Given the description of an element on the screen output the (x, y) to click on. 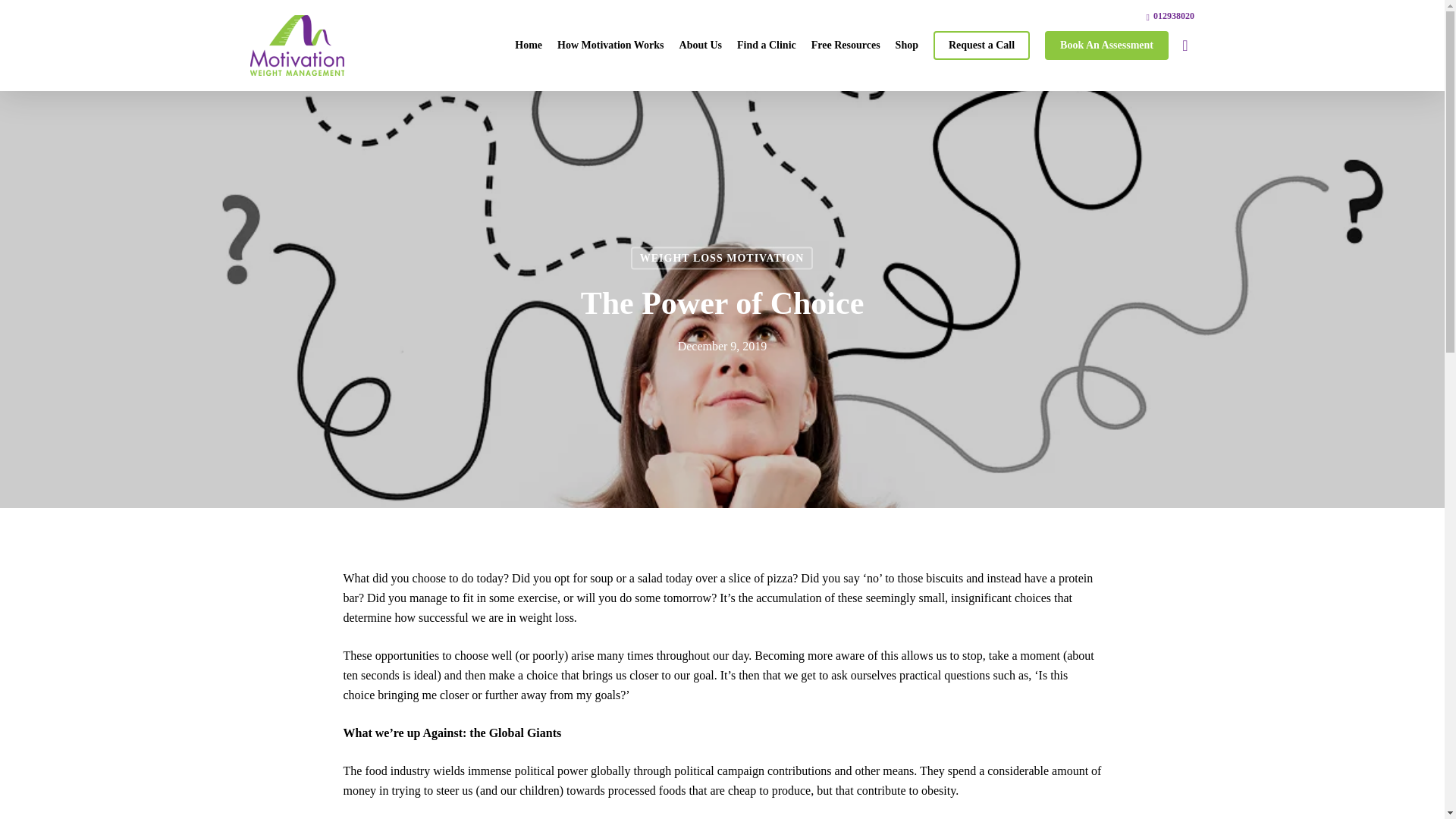
Free Resources (845, 45)
Find a Clinic (766, 45)
012938020 (1170, 15)
search (1184, 45)
Shop (907, 45)
Request a Call (981, 45)
About Us (700, 45)
WEIGHT LOSS MOTIVATION (721, 258)
Book An Assessment (1107, 45)
Home (528, 45)
